Given the description of an element on the screen output the (x, y) to click on. 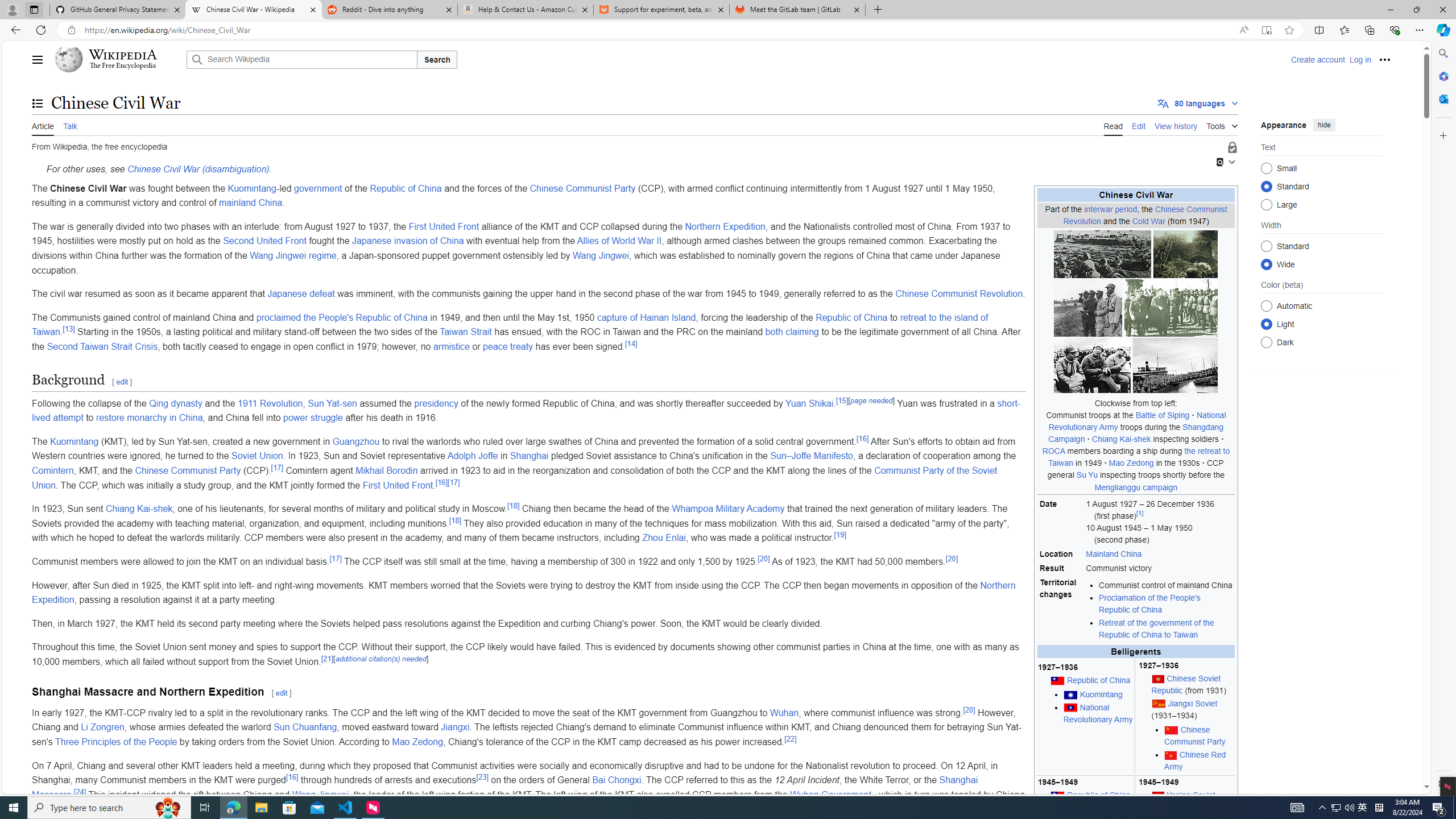
Talk (69, 124)
both claiming (791, 331)
Japanese invasion of China (408, 240)
[17] (335, 558)
Li Zongren (102, 727)
capture of Hainan Island (645, 317)
hide (1324, 124)
Location (1061, 554)
Taiwan Strait (465, 331)
Bai Chongxi (617, 780)
[24] (78, 791)
